Given the description of an element on the screen output the (x, y) to click on. 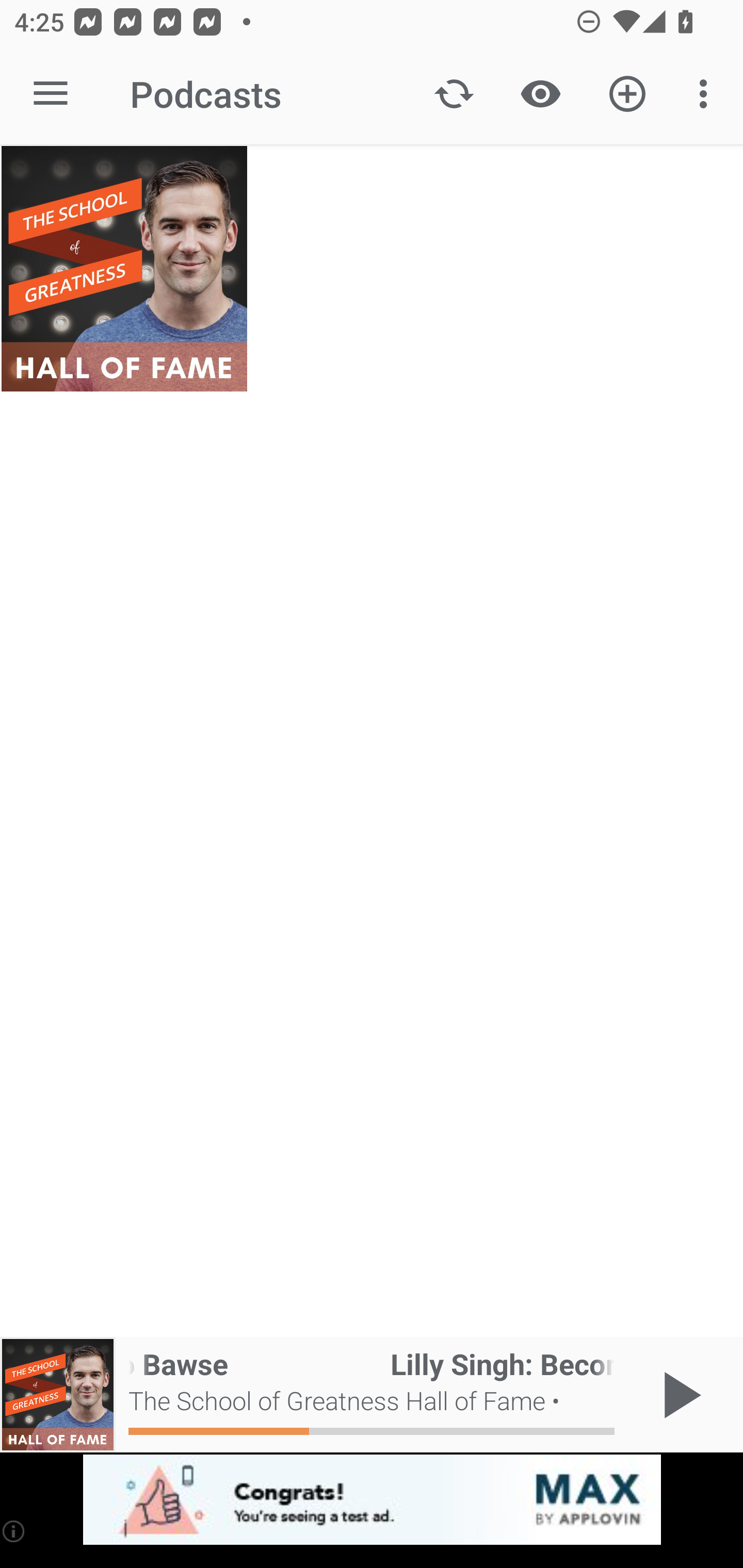
Open navigation sidebar (50, 93)
Update (453, 93)
Show / Hide played content (540, 93)
Add new Podcast (626, 93)
More options (706, 93)
The School of Greatness Hall of Fame (124, 268)
Play / Pause (677, 1394)
app-monetization (371, 1500)
(i) (14, 1531)
